Given the description of an element on the screen output the (x, y) to click on. 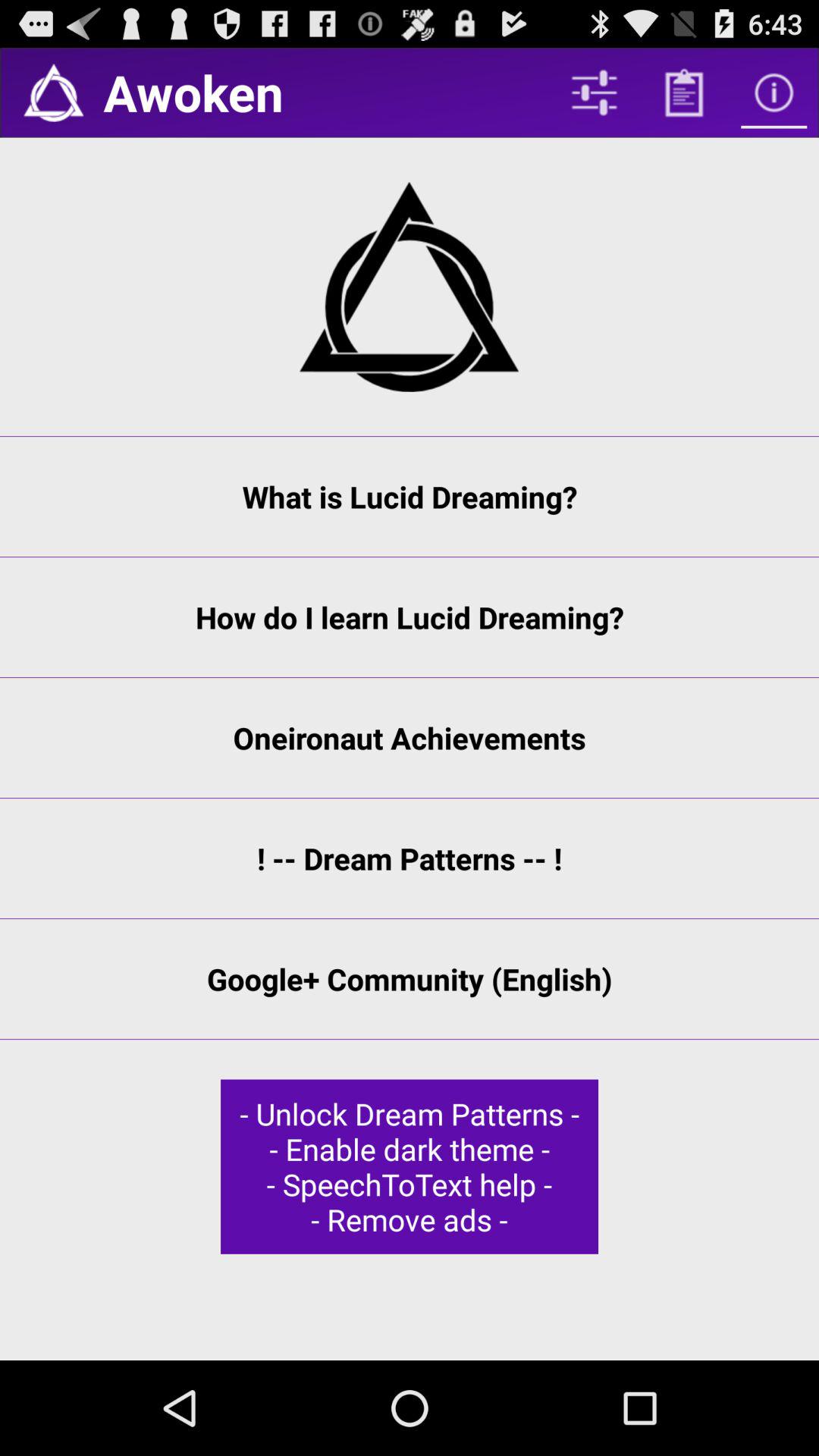
choose the icon next to awoken (53, 92)
